Given the description of an element on the screen output the (x, y) to click on. 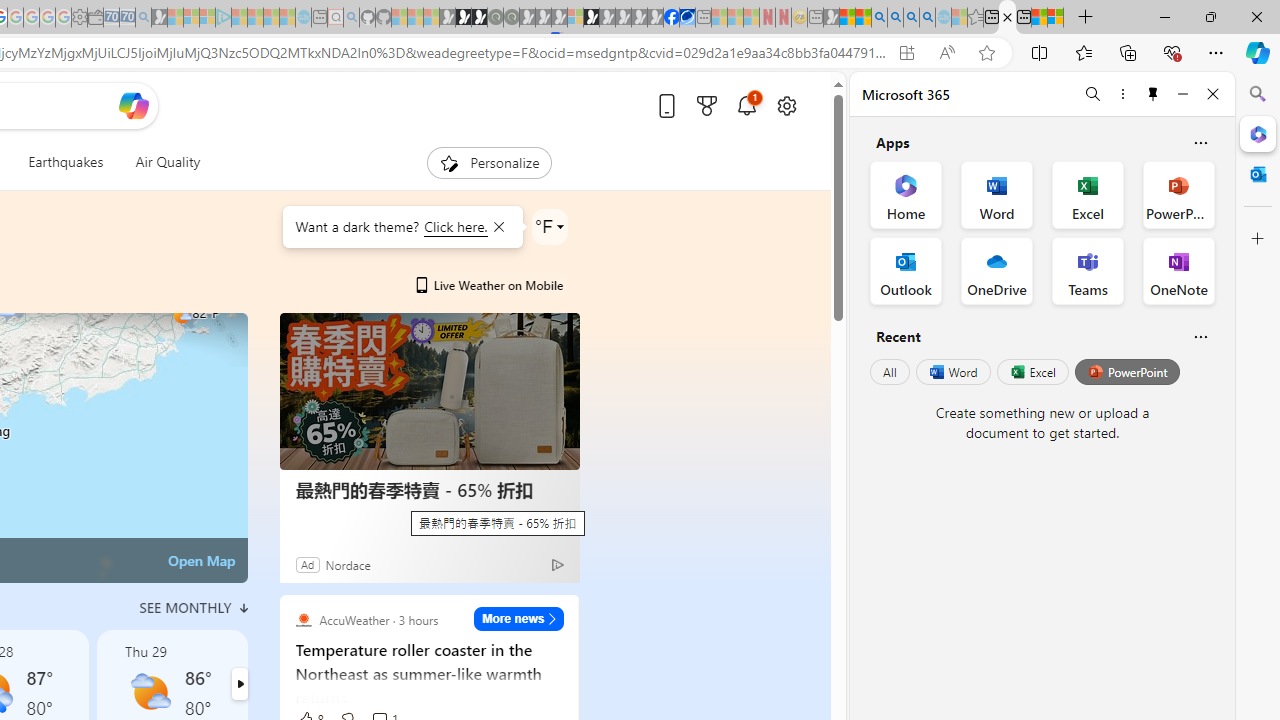
Open Map (201, 560)
Switch right (239, 683)
Air Quality (159, 162)
Unpin side pane (1153, 93)
Future Focus Report 2024 - Sleeping (511, 17)
Bing AI - Search (879, 17)
Earthquakes (65, 162)
Air Quality (167, 162)
MSN - Sleeping (831, 17)
